Given the description of an element on the screen output the (x, y) to click on. 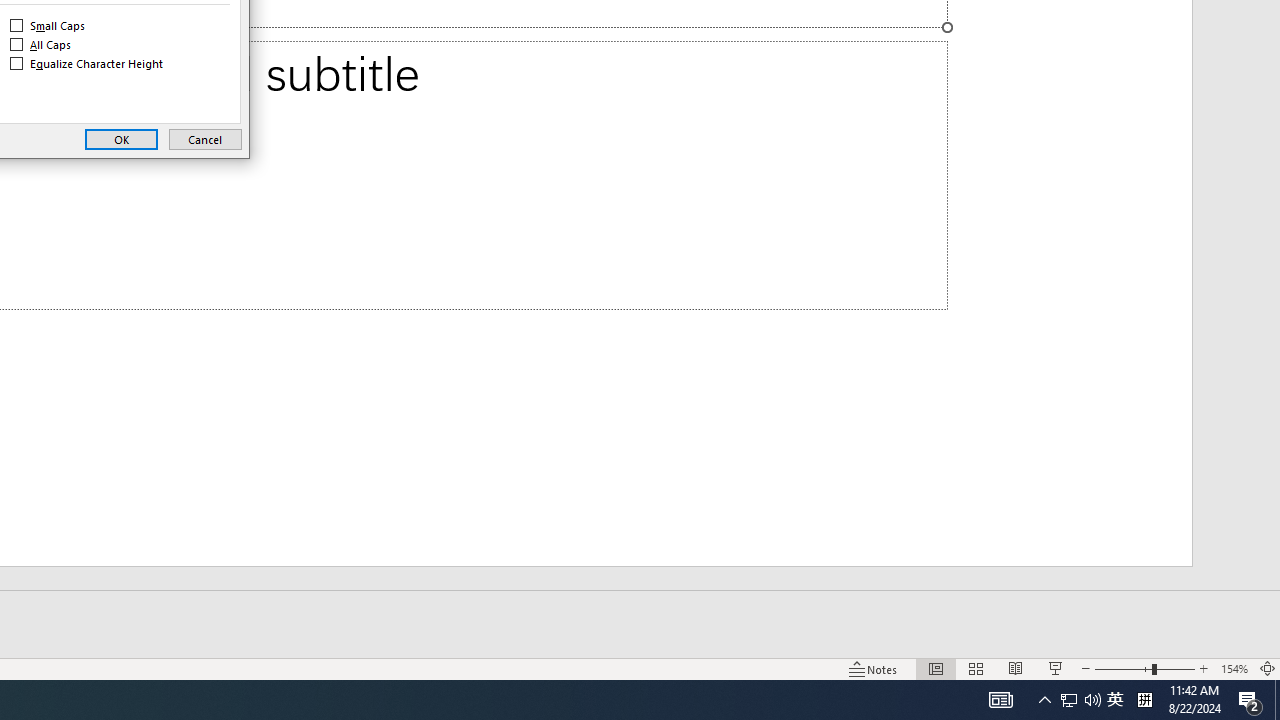
All Caps (41, 44)
Small Caps (48, 25)
